Given the description of an element on the screen output the (x, y) to click on. 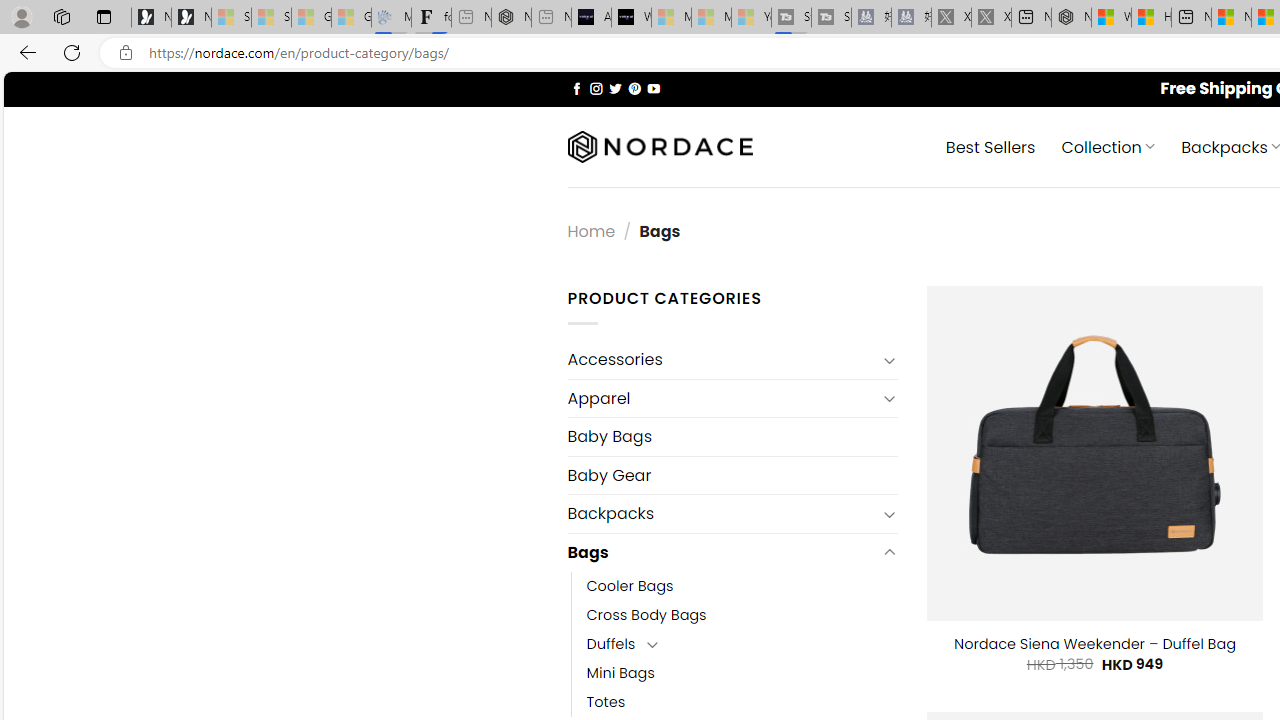
Bags (721, 552)
Accessories (721, 359)
Microsoft Start - Sleeping (711, 17)
Cooler Bags (630, 585)
Newsletter Sign Up (191, 17)
